Given the description of an element on the screen output the (x, y) to click on. 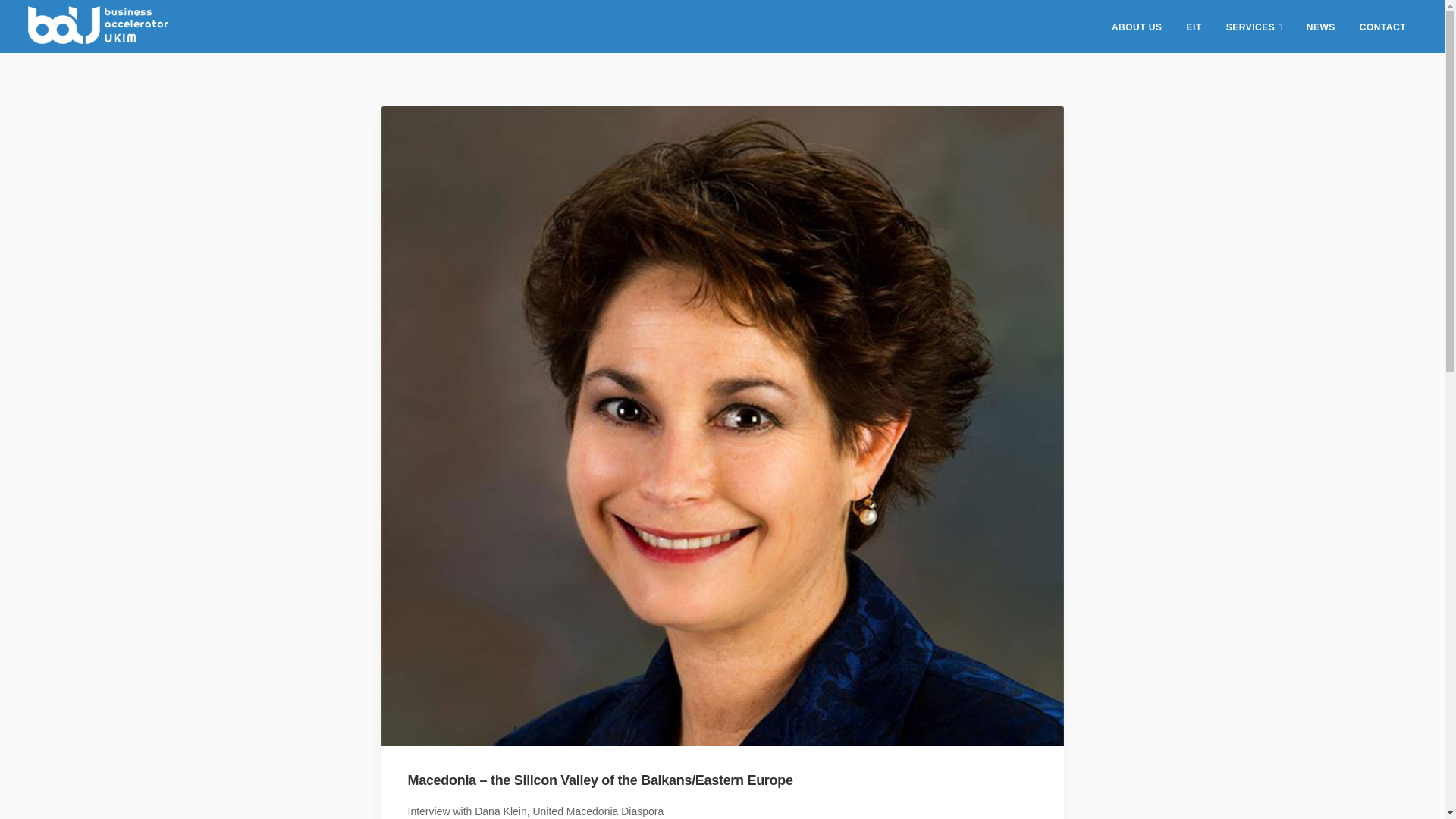
SERVICES (1254, 26)
Contact (1383, 26)
Services (1254, 26)
ABOUT US (1136, 26)
CONTACT (1383, 26)
News (1321, 26)
NEWS (1321, 26)
About us (1136, 26)
